Given the description of an element on the screen output the (x, y) to click on. 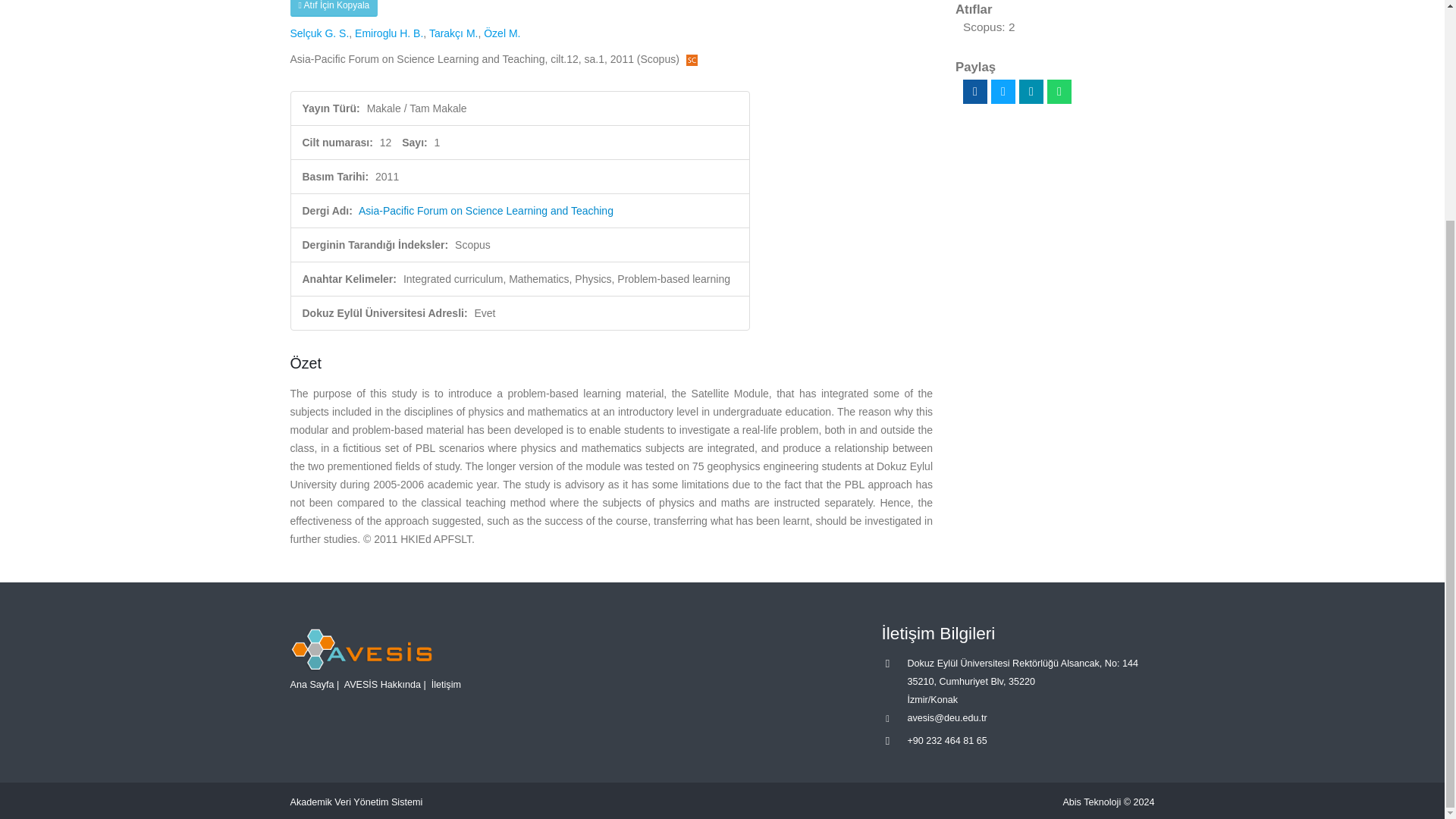
Handan Byacioglu Emiroglu (389, 33)
Emiroglu H. B. (389, 33)
Ana Sayfa (311, 684)
Abis Teknoloji (1091, 801)
Asia-Pacific Forum on Science Learning and Teaching (485, 210)
